Given the description of an element on the screen output the (x, y) to click on. 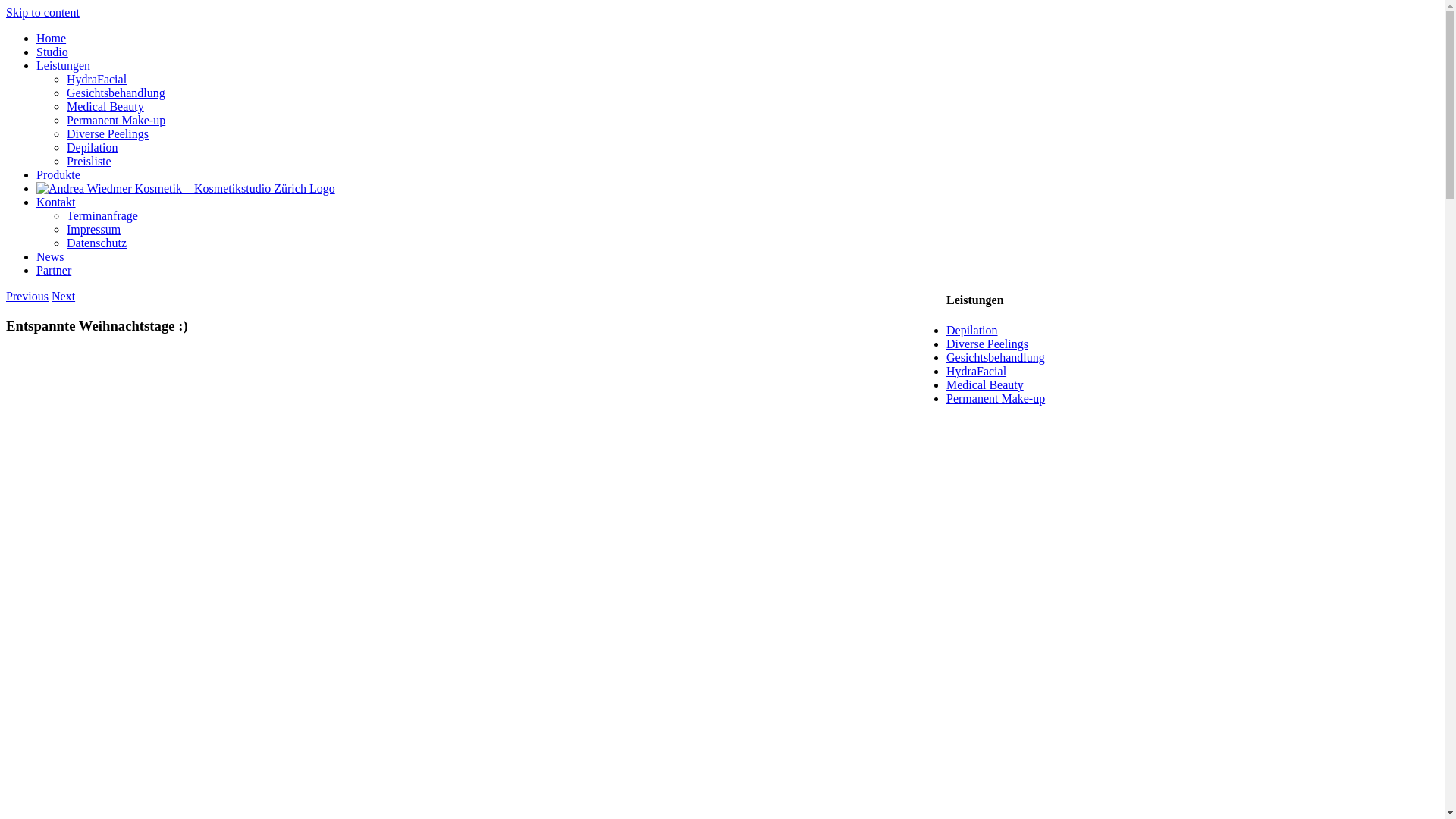
HydraFacial Element type: text (976, 370)
Diverse Peelings Element type: text (107, 133)
Preisliste Element type: text (88, 160)
Impressum Element type: text (93, 228)
Leistungen Element type: text (63, 65)
Home Element type: text (50, 37)
HydraFacial Element type: text (96, 78)
Permanent Make-up Element type: text (995, 398)
Medical Beauty Element type: text (105, 106)
Previous Element type: text (27, 295)
Skip to content Element type: text (42, 12)
Produkte Element type: text (58, 174)
Datenschutz Element type: text (96, 242)
Permanent Make-up Element type: text (115, 119)
Diverse Peelings Element type: text (987, 343)
Next Element type: text (63, 295)
Depilation Element type: text (92, 147)
Depilation Element type: text (971, 329)
Gesichtsbehandlung Element type: text (115, 92)
Kontakt Element type: text (55, 201)
Medical Beauty Element type: text (984, 384)
Partner Element type: text (53, 269)
Gesichtsbehandlung Element type: text (995, 357)
News Element type: text (49, 256)
Studio Element type: text (52, 51)
Terminanfrage Element type: text (102, 215)
